Given the description of an element on the screen output the (x, y) to click on. 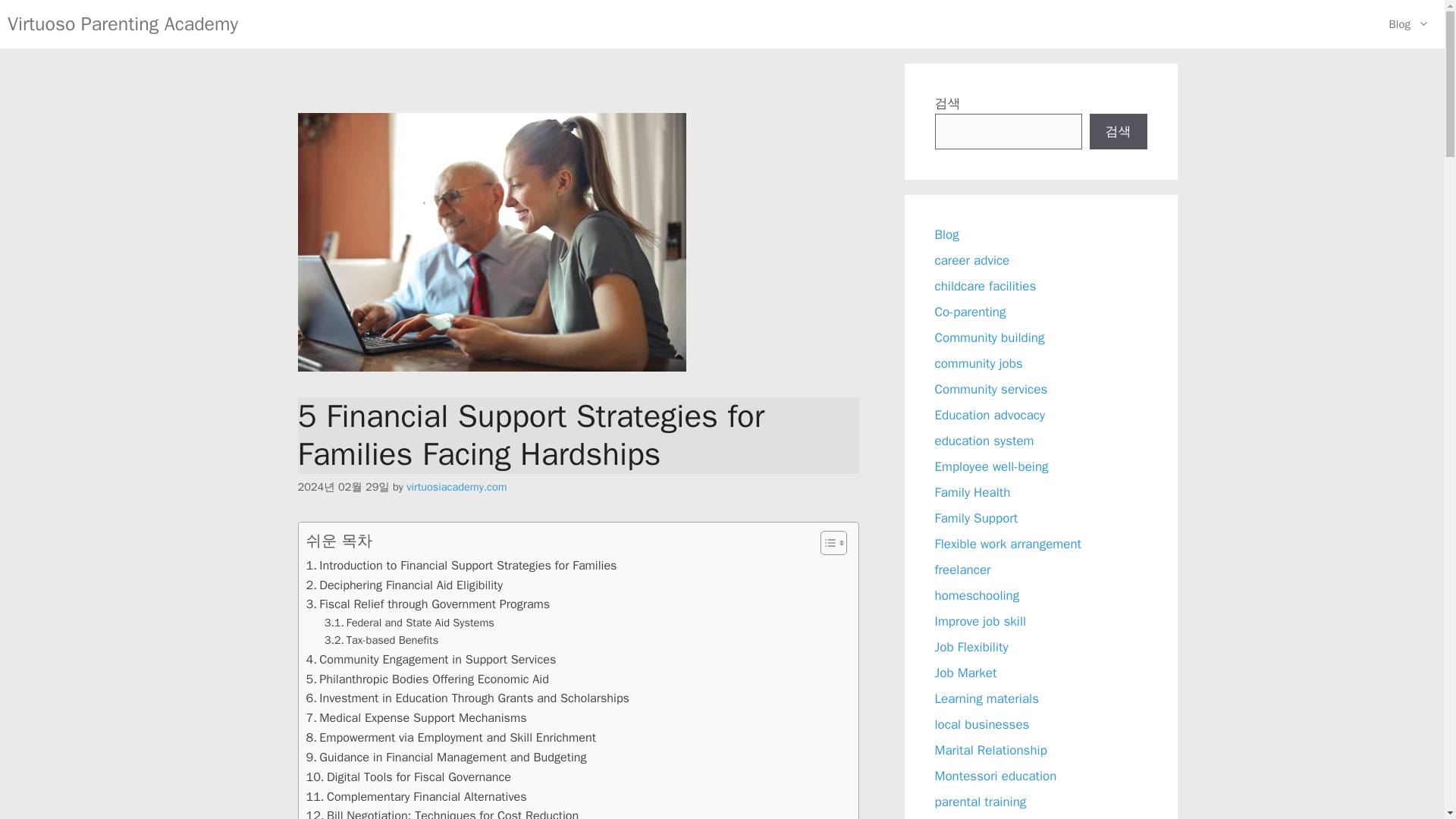
Digital Tools for Fiscal Governance (408, 777)
Deciphering Financial Aid Eligibility (403, 585)
Federal and State Aid Systems (409, 622)
Complementary Financial Alternatives (416, 796)
Fiscal Relief through Government Programs (427, 604)
Bill Negotiation: Techniques for Cost Reduction (442, 812)
Medical Expense Support Mechanisms (416, 718)
Introduction to Financial Support Strategies for Families (461, 565)
Introduction to Financial Support Strategies for Families (461, 565)
Complementary Financial Alternatives (416, 796)
Philanthropic Bodies Offering Economic Aid (426, 679)
Tax-based Benefits (381, 640)
Tax-based Benefits (381, 640)
virtuosiacademy.com (456, 486)
Investment in Education Through Grants and Scholarships (466, 698)
